Given the description of an element on the screen output the (x, y) to click on. 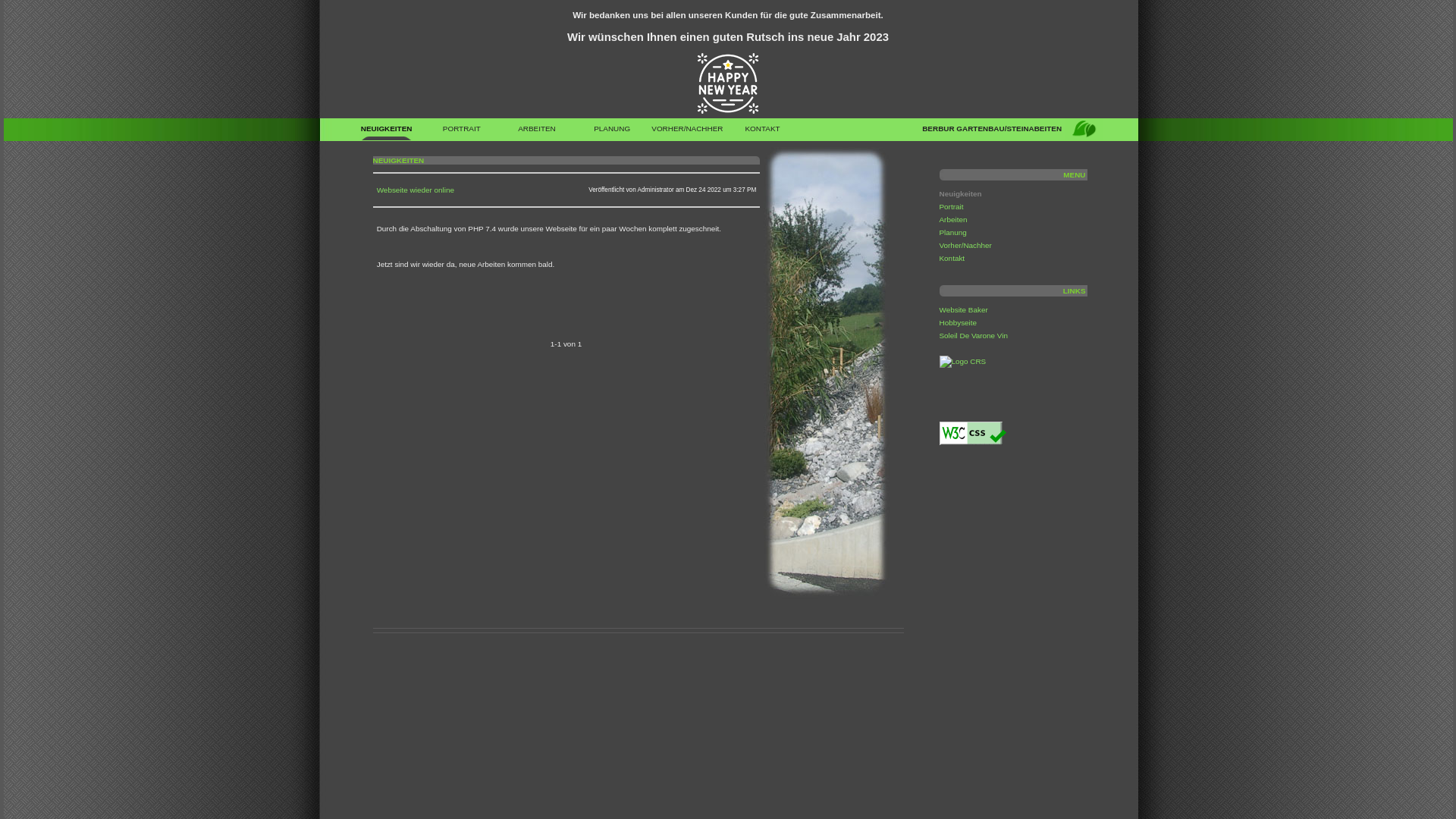
Neuigkeiten Element type: text (959, 193)
Kontakt Element type: text (951, 258)
Webseite wieder online Element type: text (415, 189)
Soleil De Varone Vin Element type: text (972, 335)
Countryradio Switzerland Element type: hover (961, 361)
Planung Element type: text (952, 232)
Hobbyseite Element type: text (957, 322)
NEUIGKEITEN Element type: text (385, 132)
Website Baker Element type: text (962, 309)
PLANUNG Element type: text (611, 132)
VORHER/NACHHER Element type: text (686, 132)
Portrait Element type: text (950, 206)
Arbeiten Element type: text (952, 219)
KONTAKT Element type: text (762, 132)
Vorher/Nachher Element type: text (964, 245)
PORTRAIT Element type: text (460, 132)
ARBEITEN Element type: text (536, 132)
